Given the description of an element on the screen output the (x, y) to click on. 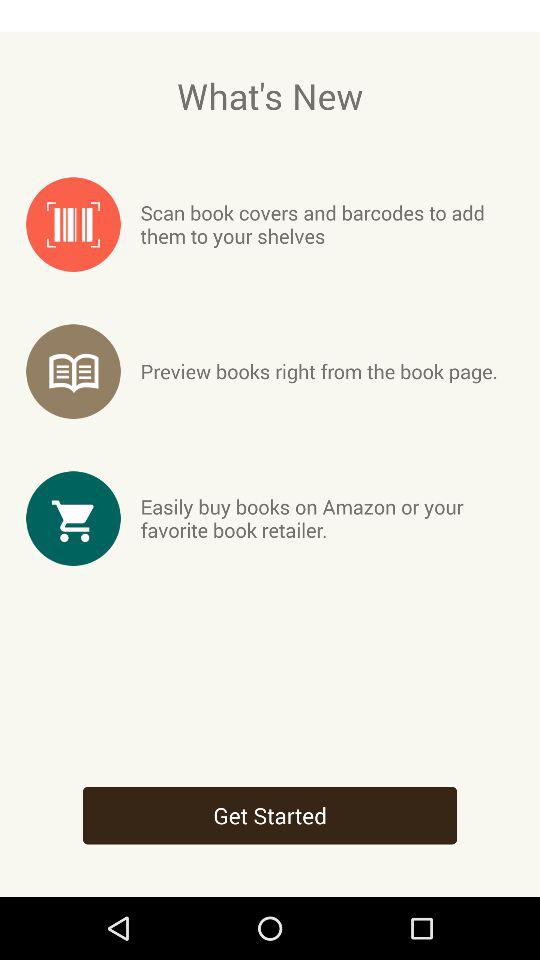
jump until the preview books right (318, 371)
